Given the description of an element on the screen output the (x, y) to click on. 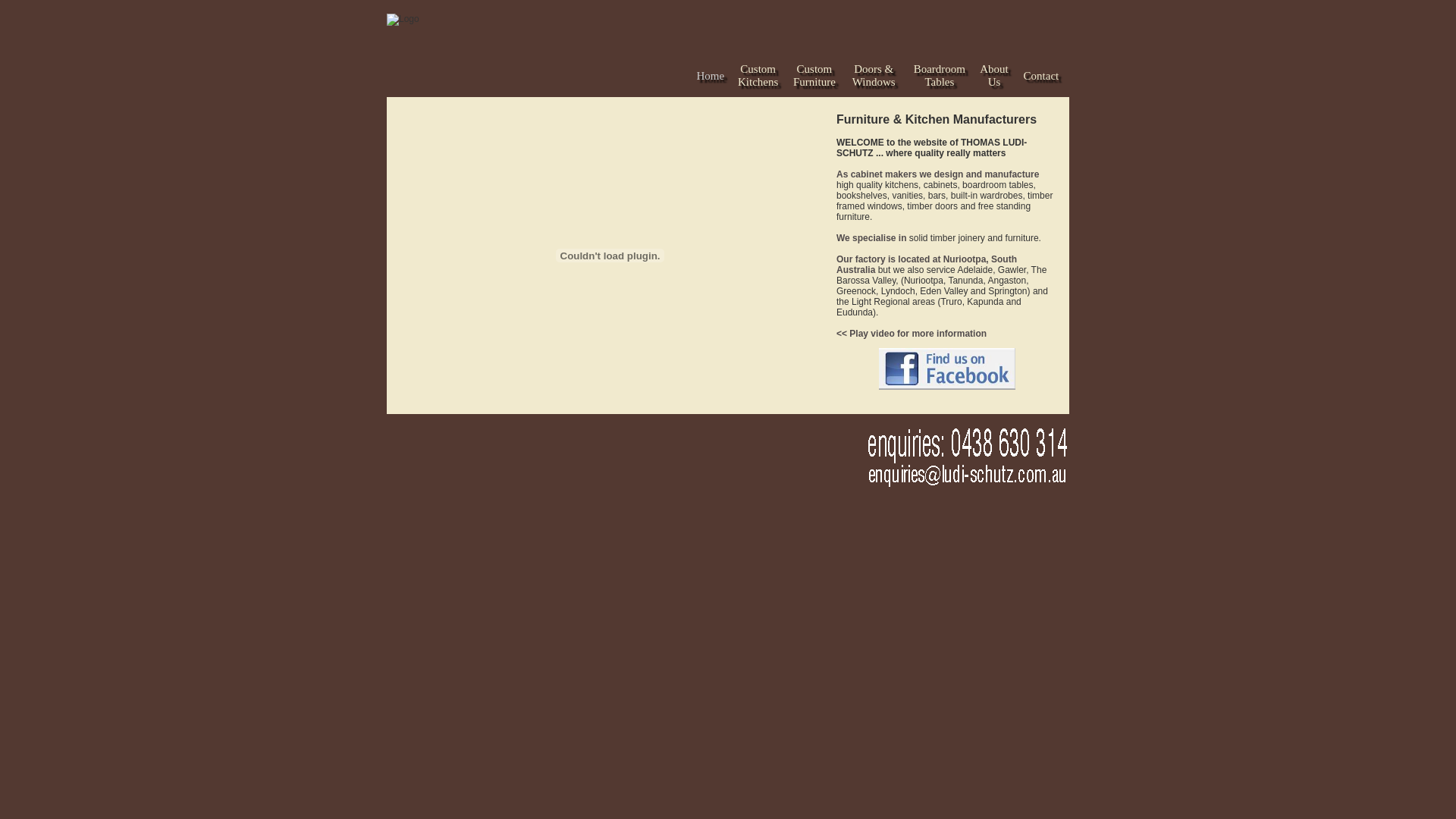
Boardroom Tables Element type: text (939, 75)
About Us Element type: text (993, 75)
Custom Furniture Element type: text (814, 75)
Doors & Windows Element type: text (873, 75)
Contact Element type: text (1041, 76)
Custom Kitchens Element type: text (757, 75)
